Given the description of an element on the screen output the (x, y) to click on. 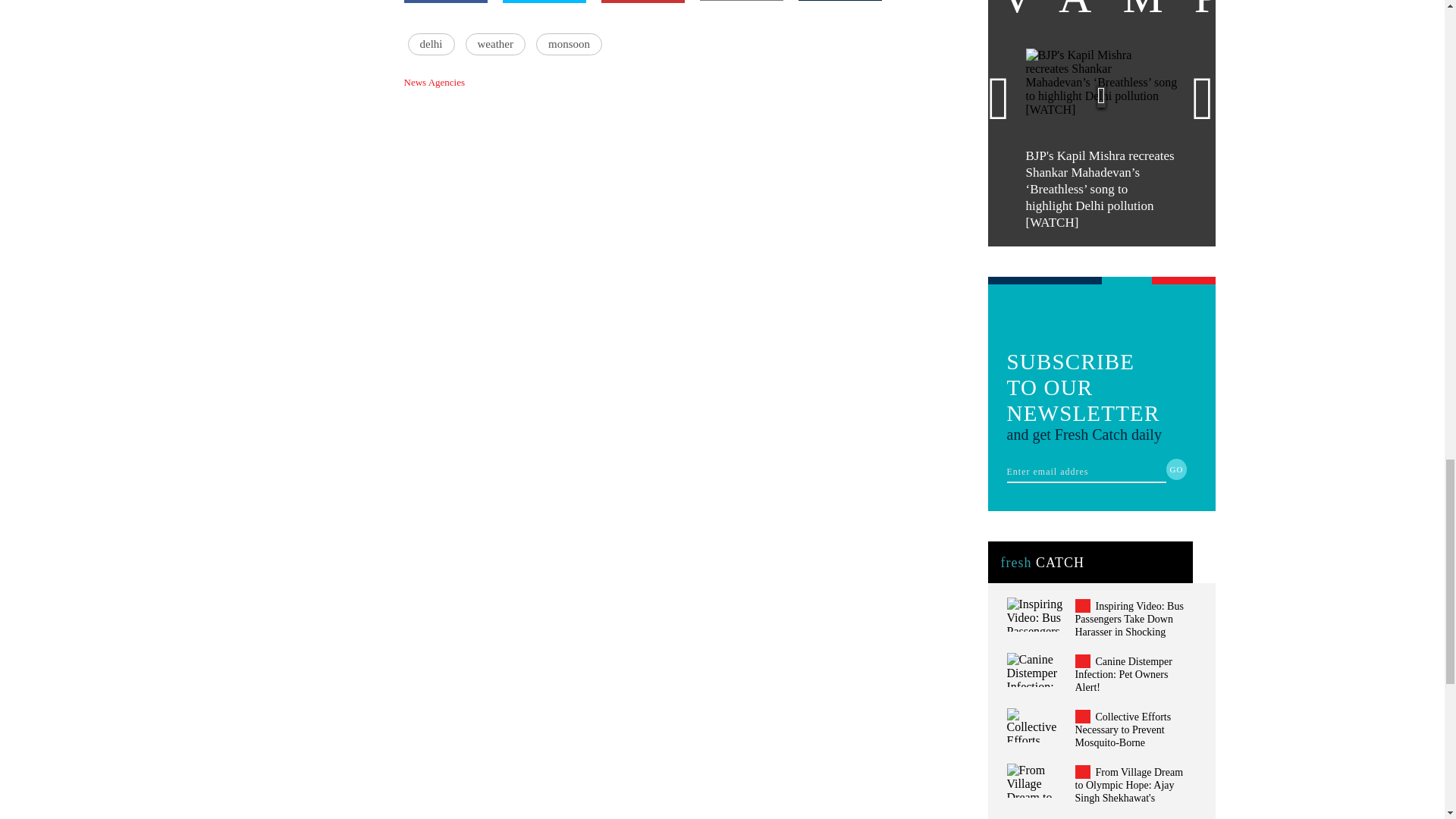
GO (1177, 468)
delhi (430, 44)
weather (495, 44)
monsoon (568, 44)
